Given the description of an element on the screen output the (x, y) to click on. 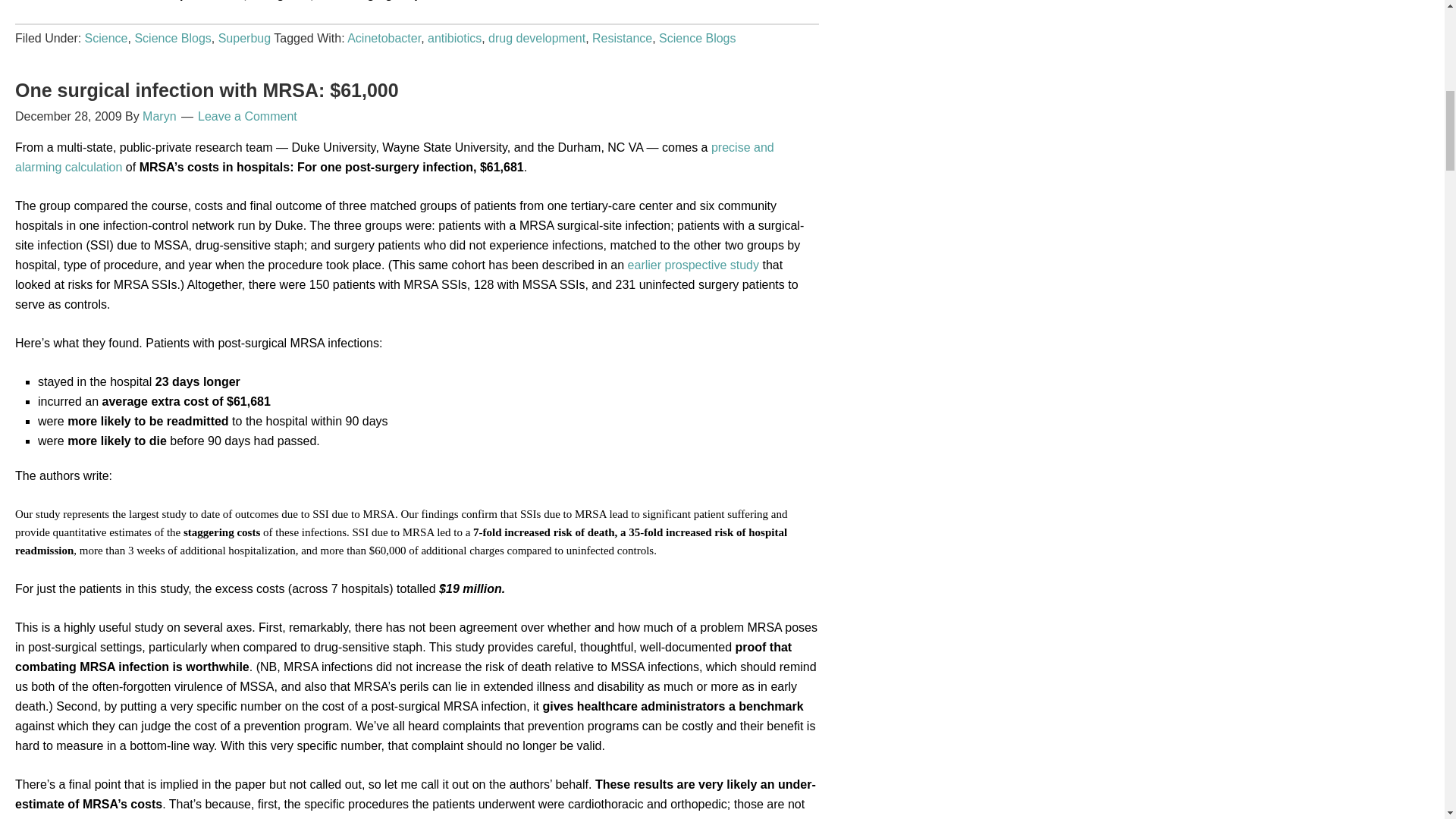
precise and alarming calculation (394, 156)
Superbug (244, 38)
earlier prospective study (692, 264)
Leave a Comment (247, 115)
Acinetobacter (383, 38)
Resistance (622, 38)
Maryn (159, 115)
drug development (536, 38)
Science Blogs (697, 38)
antibiotics (454, 38)
Science Blogs (172, 38)
Science (106, 38)
